Given the description of an element on the screen output the (x, y) to click on. 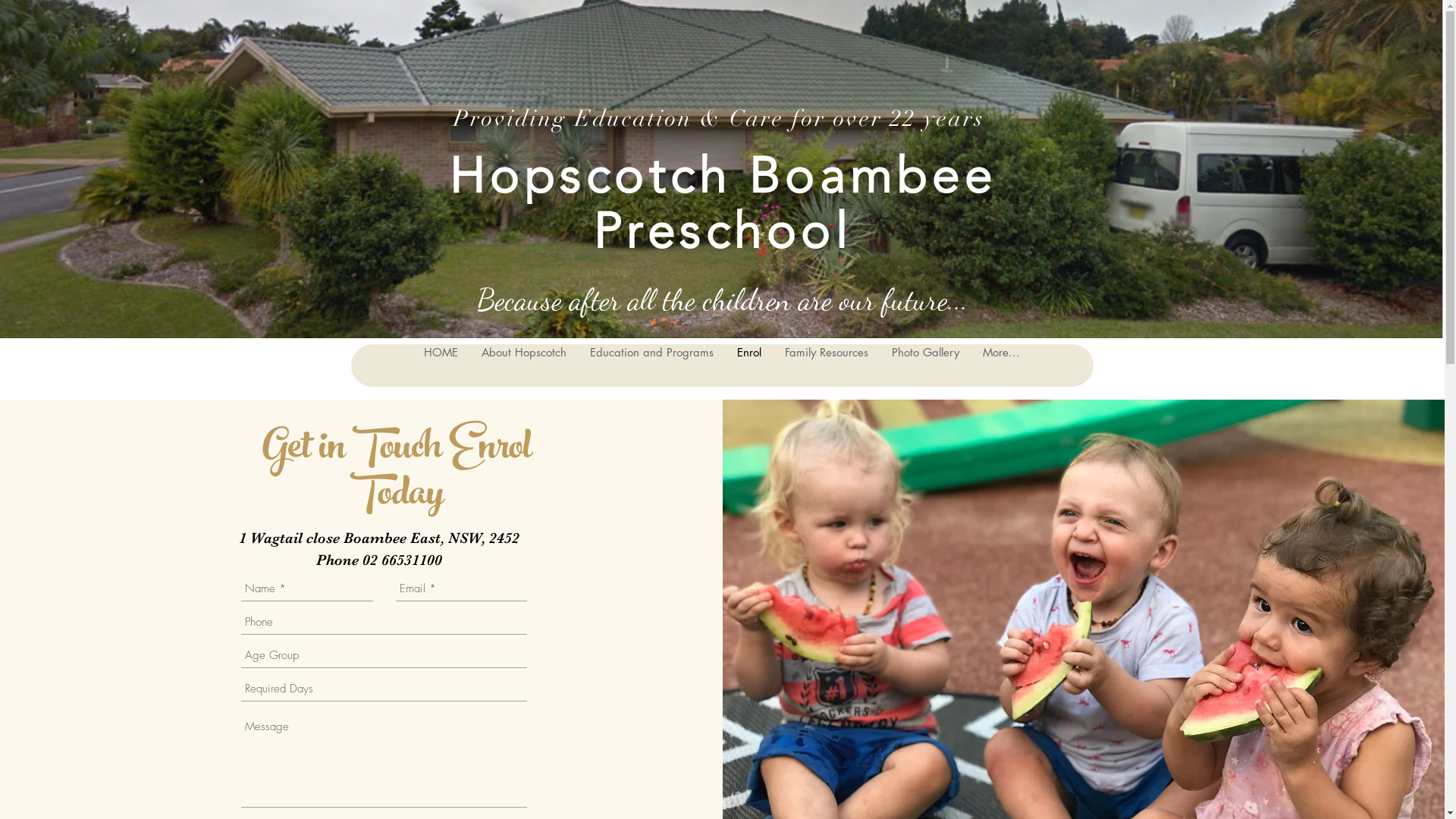
Enrol Element type: text (748, 365)
About Hopscotch Element type: text (523, 365)
Education and Programs Element type: text (650, 365)
Photo Gallery Element type: text (924, 365)
Family Resources Element type: text (825, 365)
Log In Element type: text (1046, 139)
HOME Element type: text (440, 365)
